Given the description of an element on the screen output the (x, y) to click on. 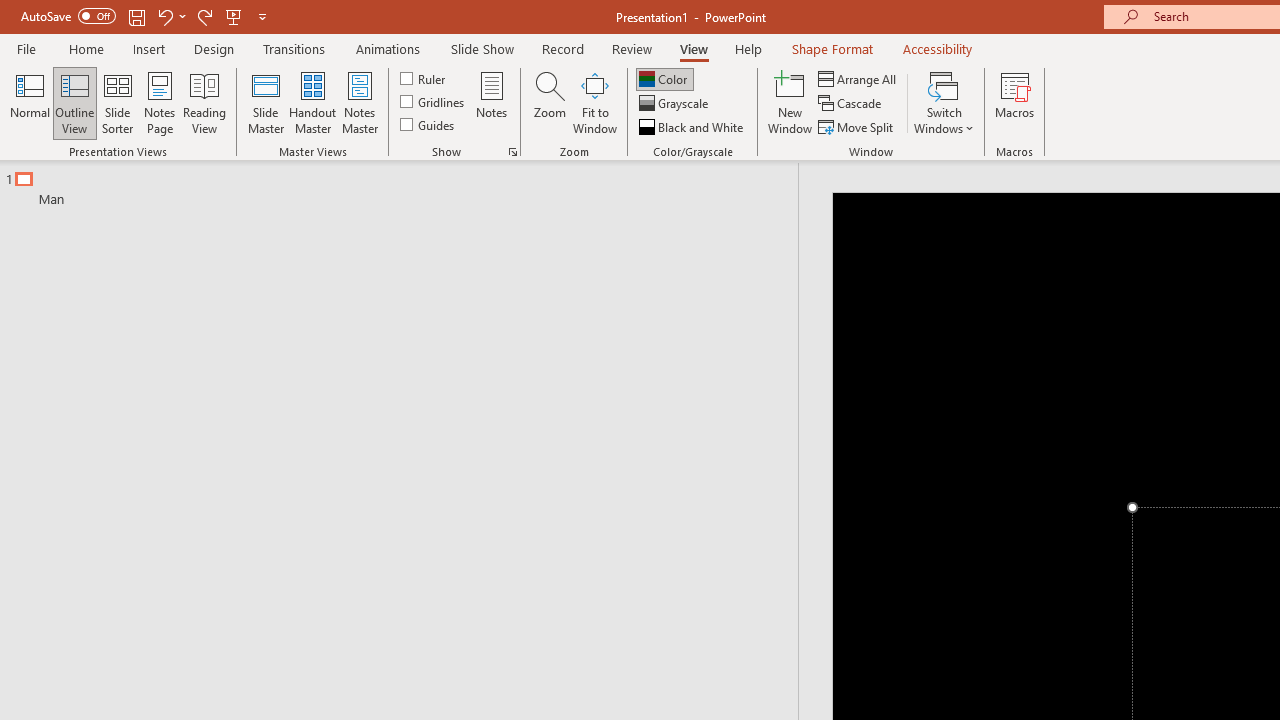
Black and White (693, 126)
Ruler (423, 78)
Color (664, 78)
Arrange All (858, 78)
Notes Master (360, 102)
Macros (1014, 102)
Switch Windows (943, 102)
